Given the description of an element on the screen output the (x, y) to click on. 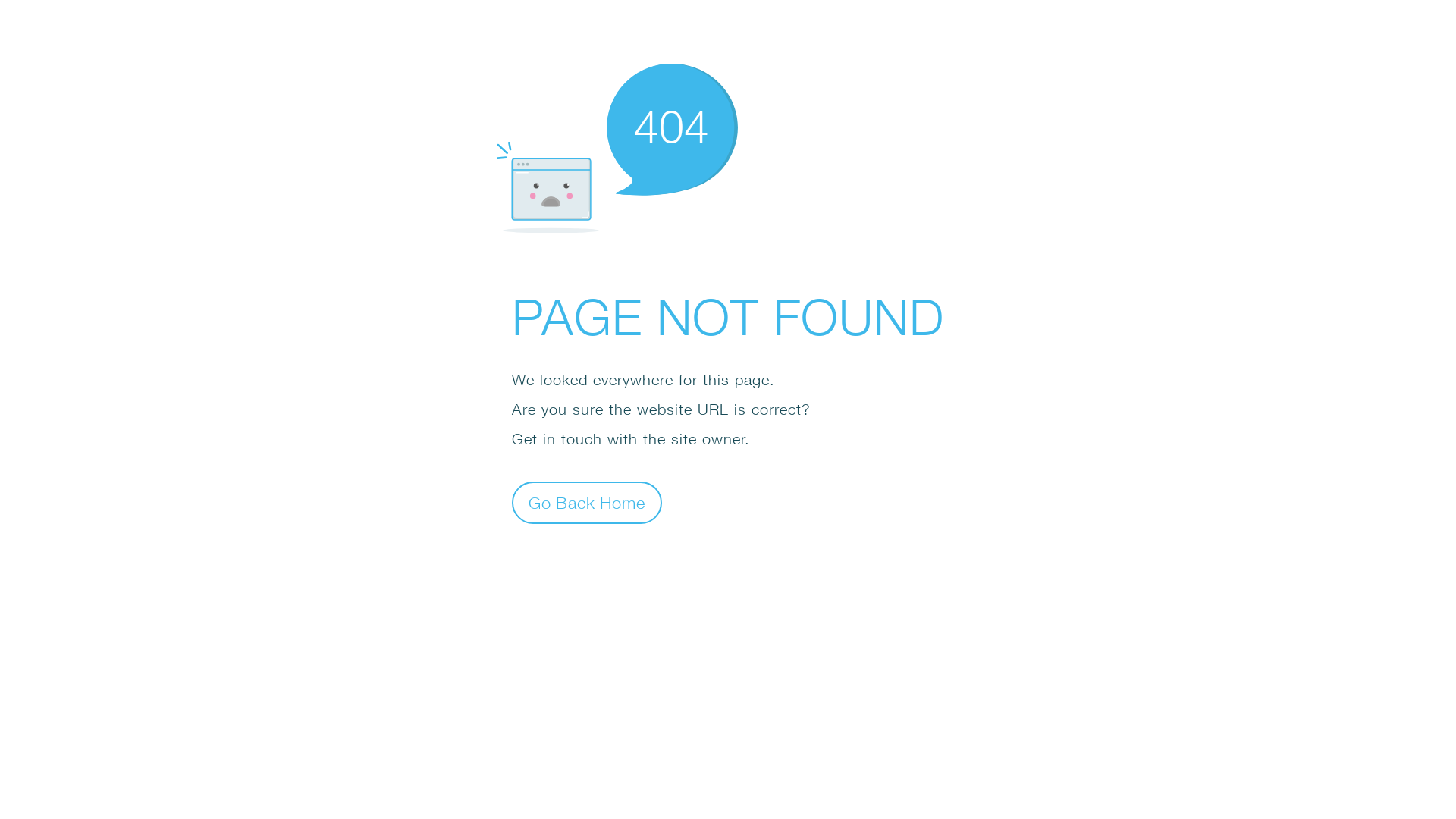
Go Back Home Element type: text (586, 502)
